Given the description of an element on the screen output the (x, y) to click on. 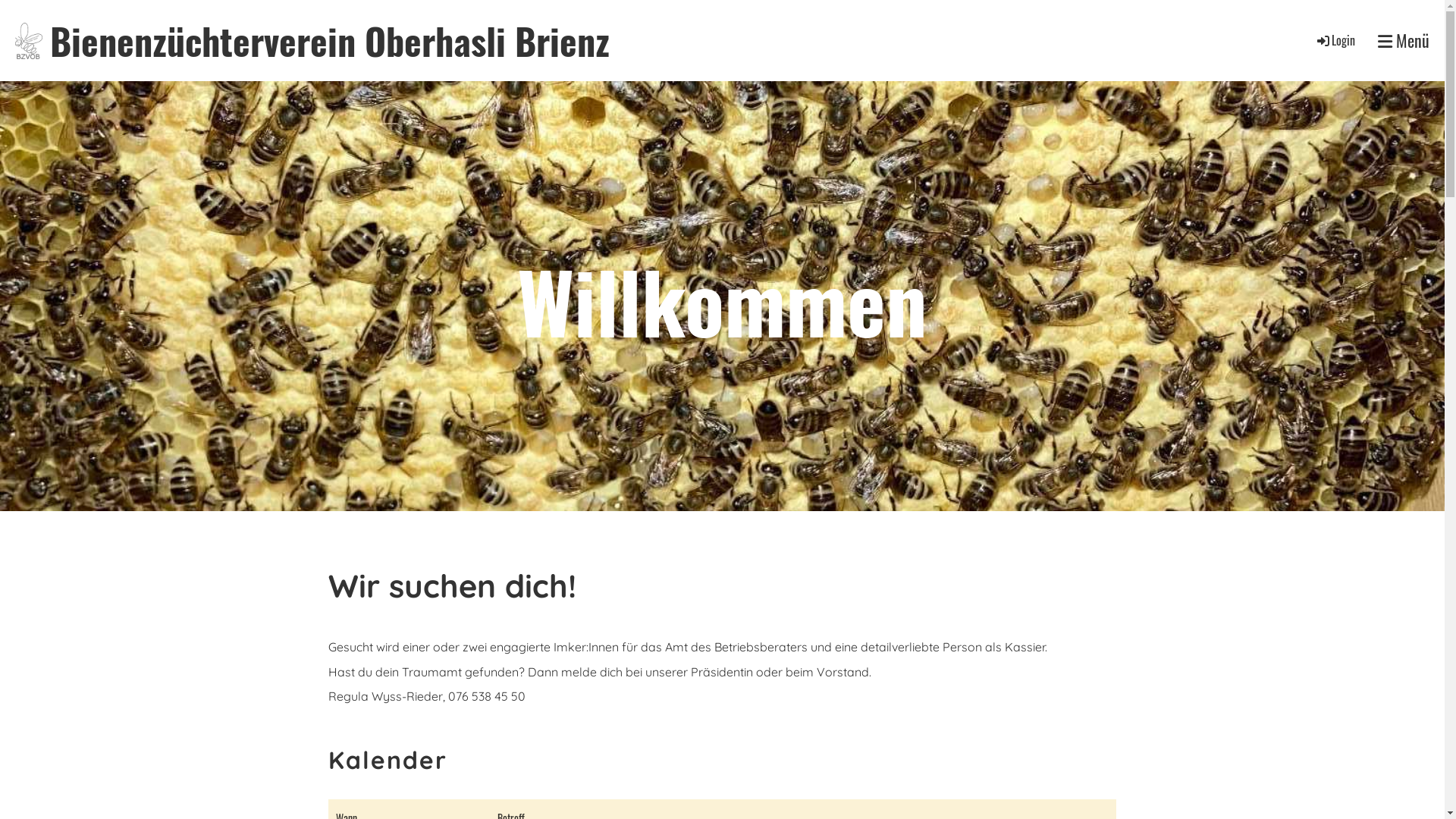
Login Element type: text (1334, 40)
